Given the description of an element on the screen output the (x, y) to click on. 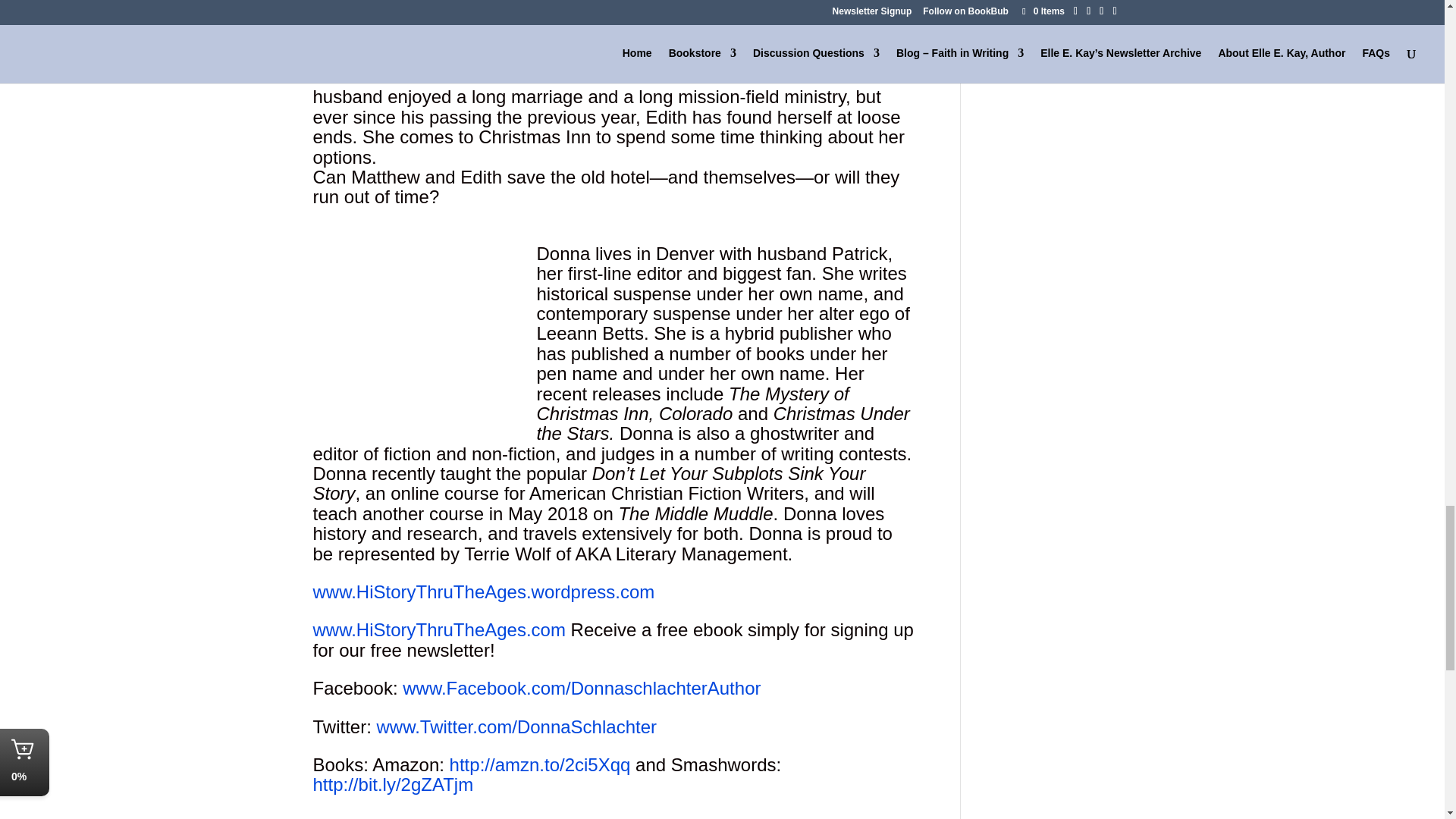
www.HiStoryThruTheAges.com (438, 629)
www.HiStoryThruTheAges.wordpress.com (483, 591)
